Given the description of an element on the screen output the (x, y) to click on. 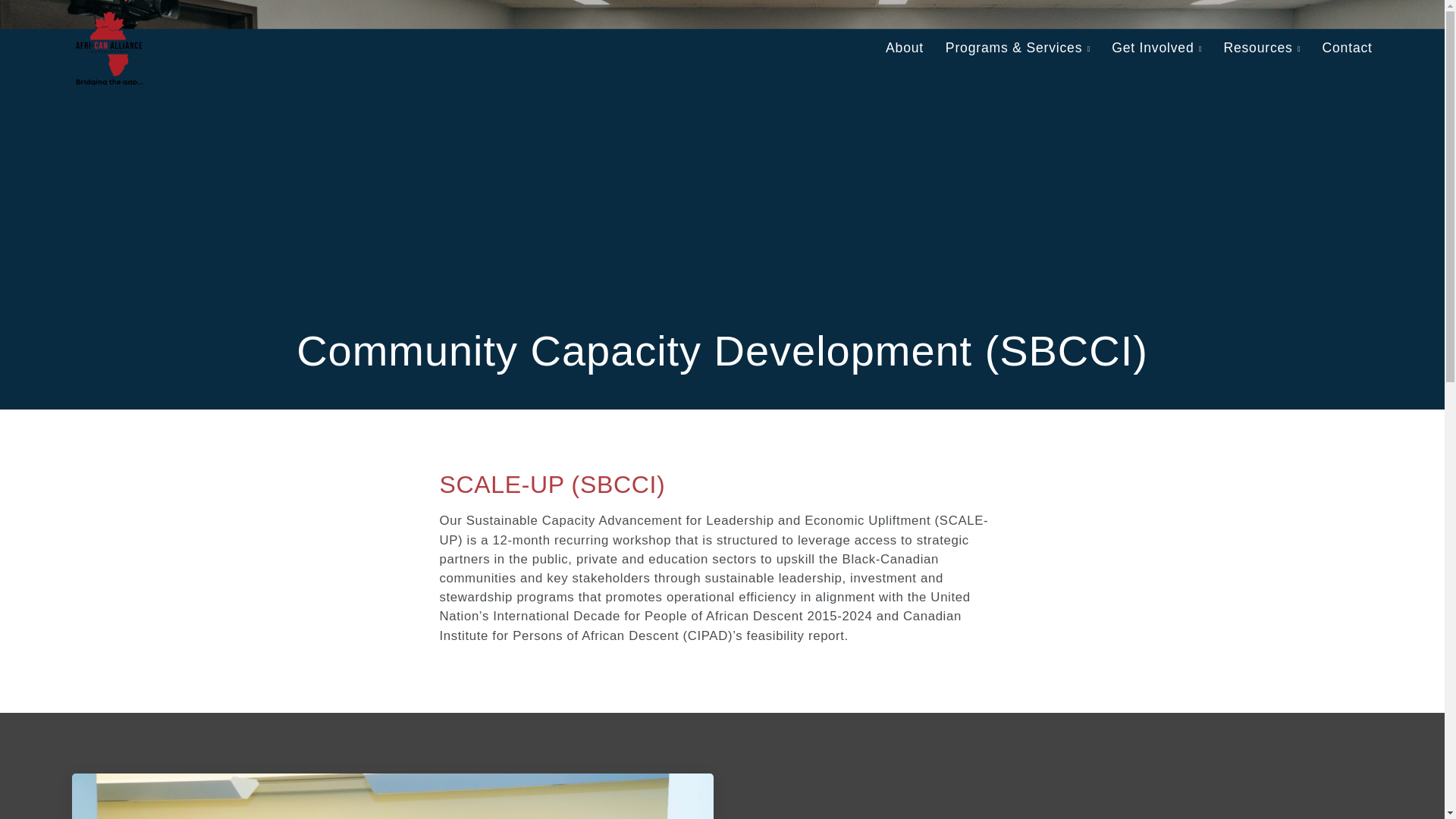
About (904, 48)
Resources (1257, 48)
Get Involved (1152, 48)
Contact (1347, 48)
